Given the description of an element on the screen output the (x, y) to click on. 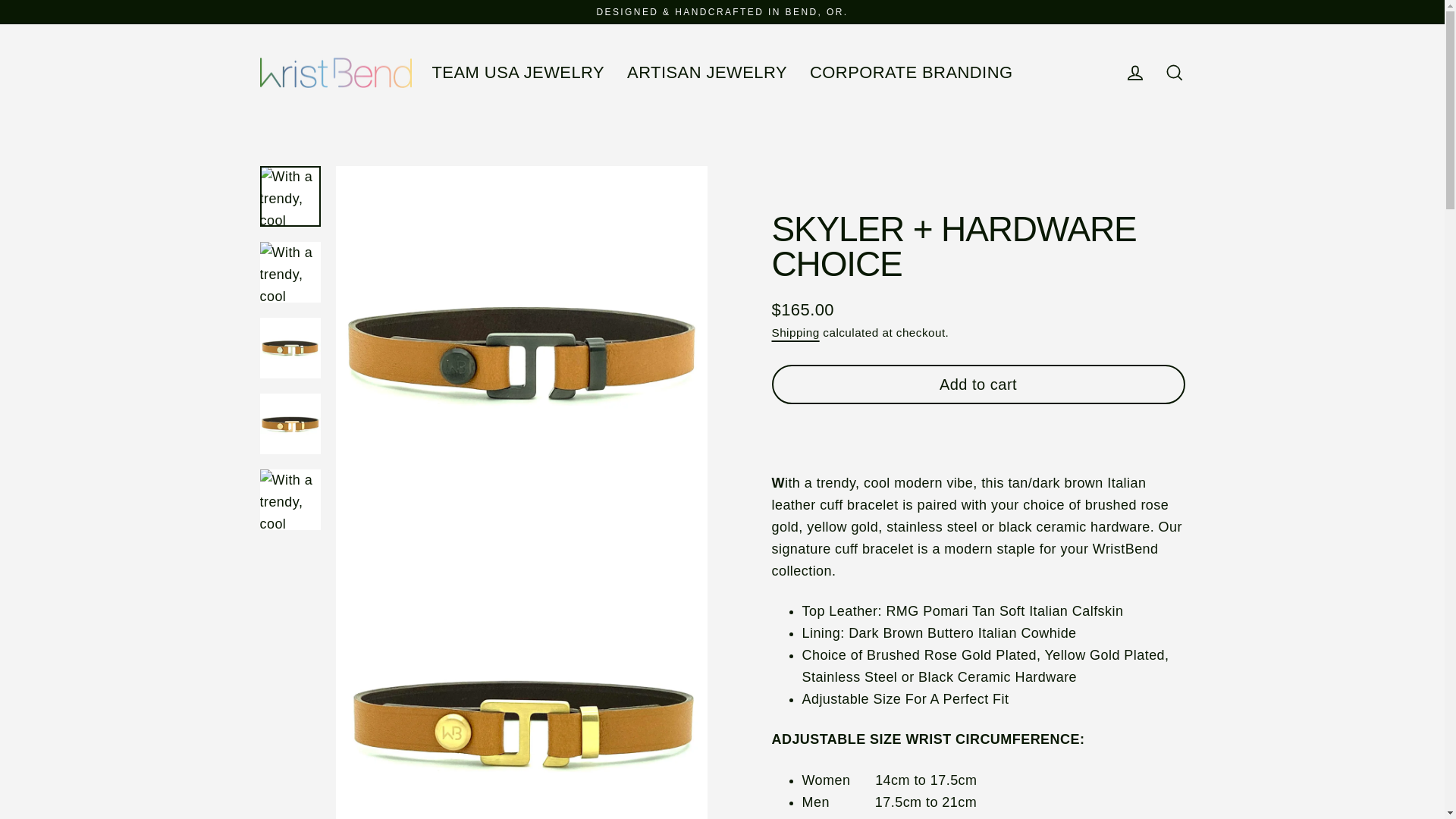
CORPORATE BRANDING (911, 72)
ARTISAN JEWELRY (706, 72)
SEARCH (1173, 72)
LOG IN (1134, 72)
TEAM USA JEWELRY (517, 72)
